Given the description of an element on the screen output the (x, y) to click on. 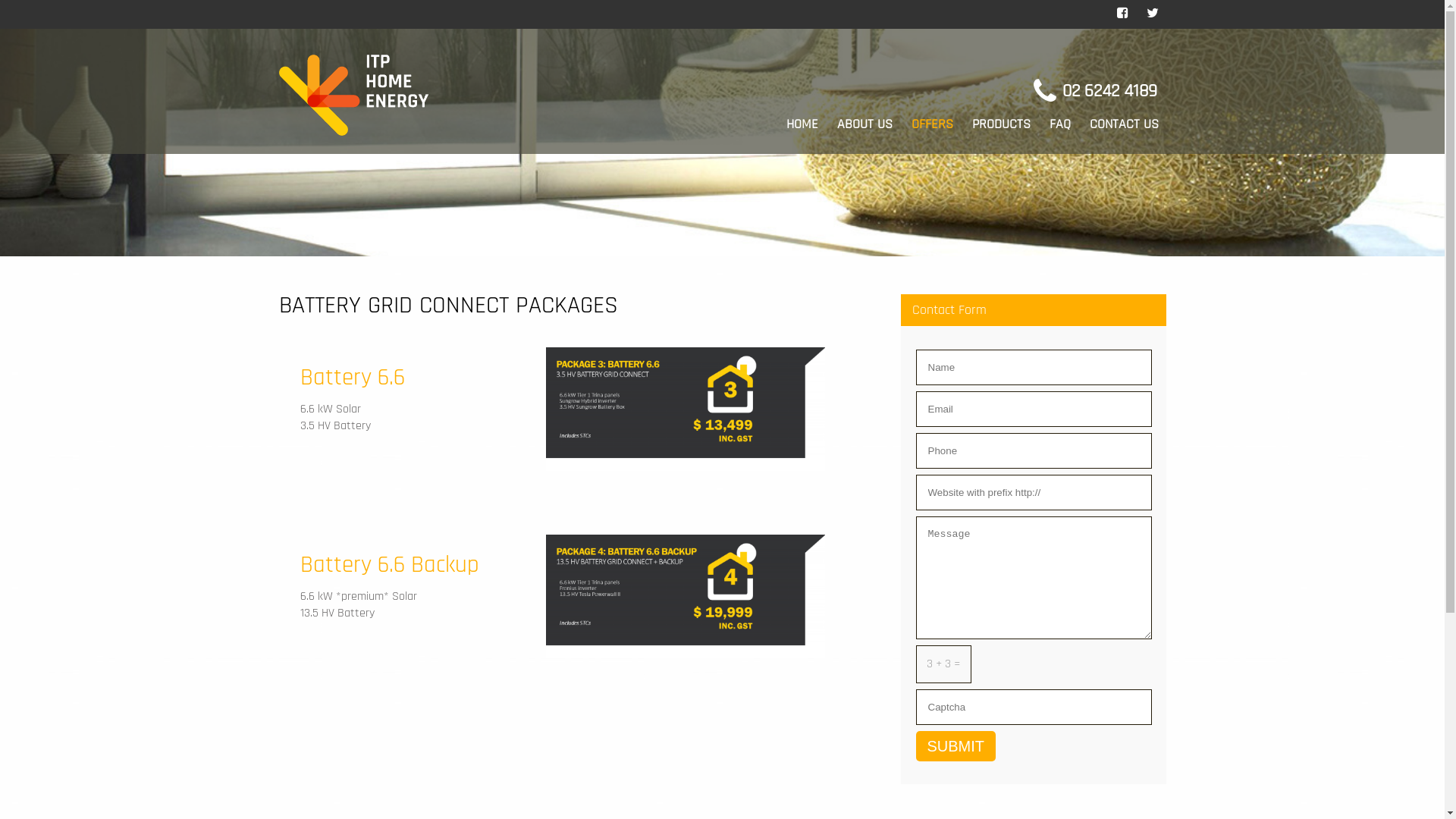
CONTACT US Element type: text (1122, 123)
Battery 6.6 Element type: text (352, 377)
twitter Element type: hover (1152, 13)
FAQ Element type: text (1059, 123)
Battery 6.6 Backup Element type: text (389, 564)
facebook-square Element type: hover (1121, 13)
HOME Element type: text (801, 123)
Submit Element type: text (956, 746)
ABOUT US Element type: text (864, 123)
PRODUCTS Element type: text (1001, 123)
OFFERS Element type: text (932, 123)
